Given the description of an element on the screen output the (x, y) to click on. 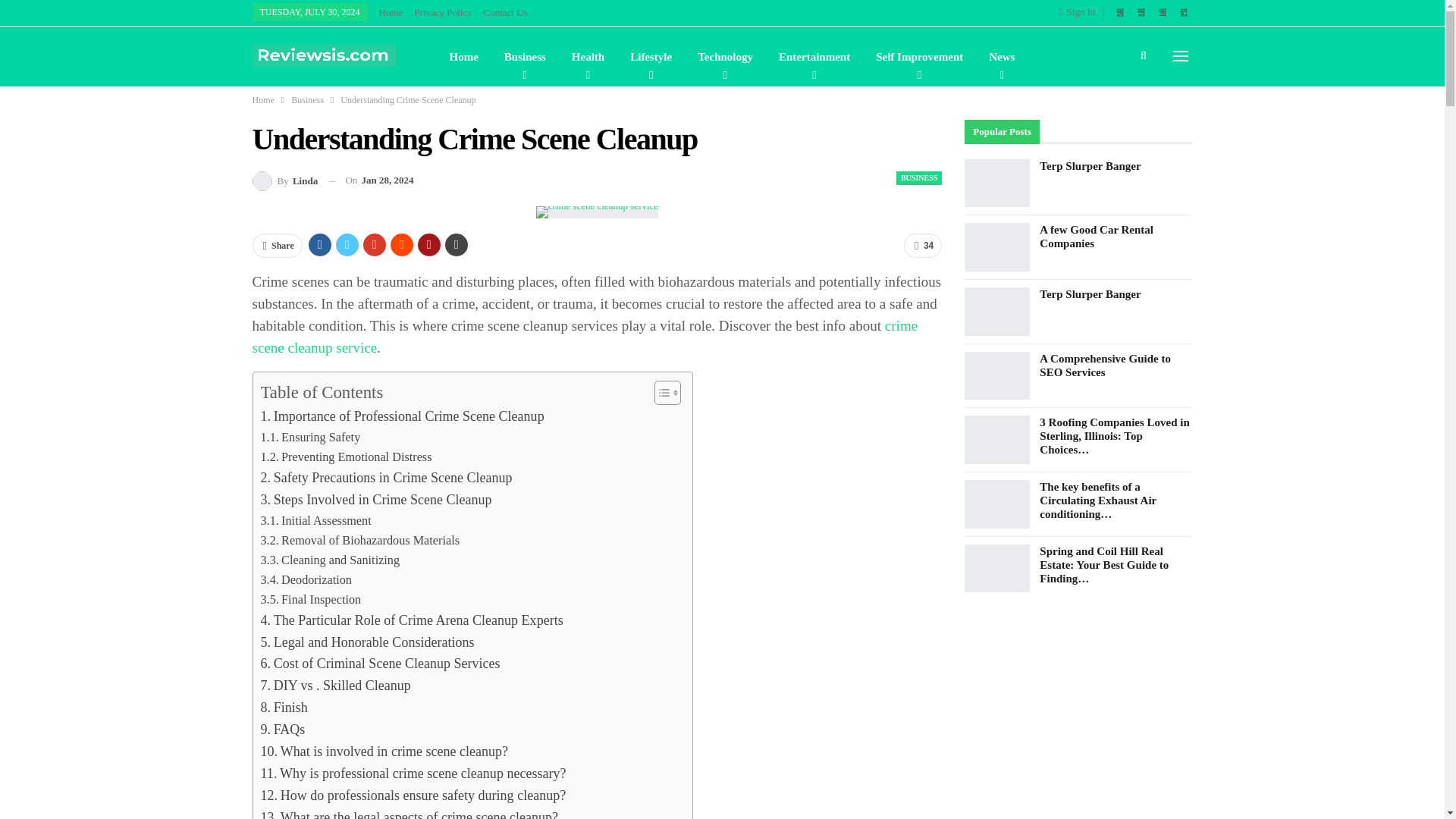
Removal of Biohazardous Materials (360, 540)
Final Inspection (310, 599)
Technology (724, 55)
Health (587, 55)
Deodorization (306, 579)
Home (390, 12)
Sign In (1080, 12)
Legal and Honorable Considerations (367, 642)
Initial Assessment (315, 520)
Preventing Emotional Distress (346, 456)
Browse Author Articles (284, 180)
Importance of Professional Crime Scene Cleanup (402, 416)
Contact Us (505, 12)
Ensuring Safety (310, 437)
Home (462, 55)
